Given the description of an element on the screen output the (x, y) to click on. 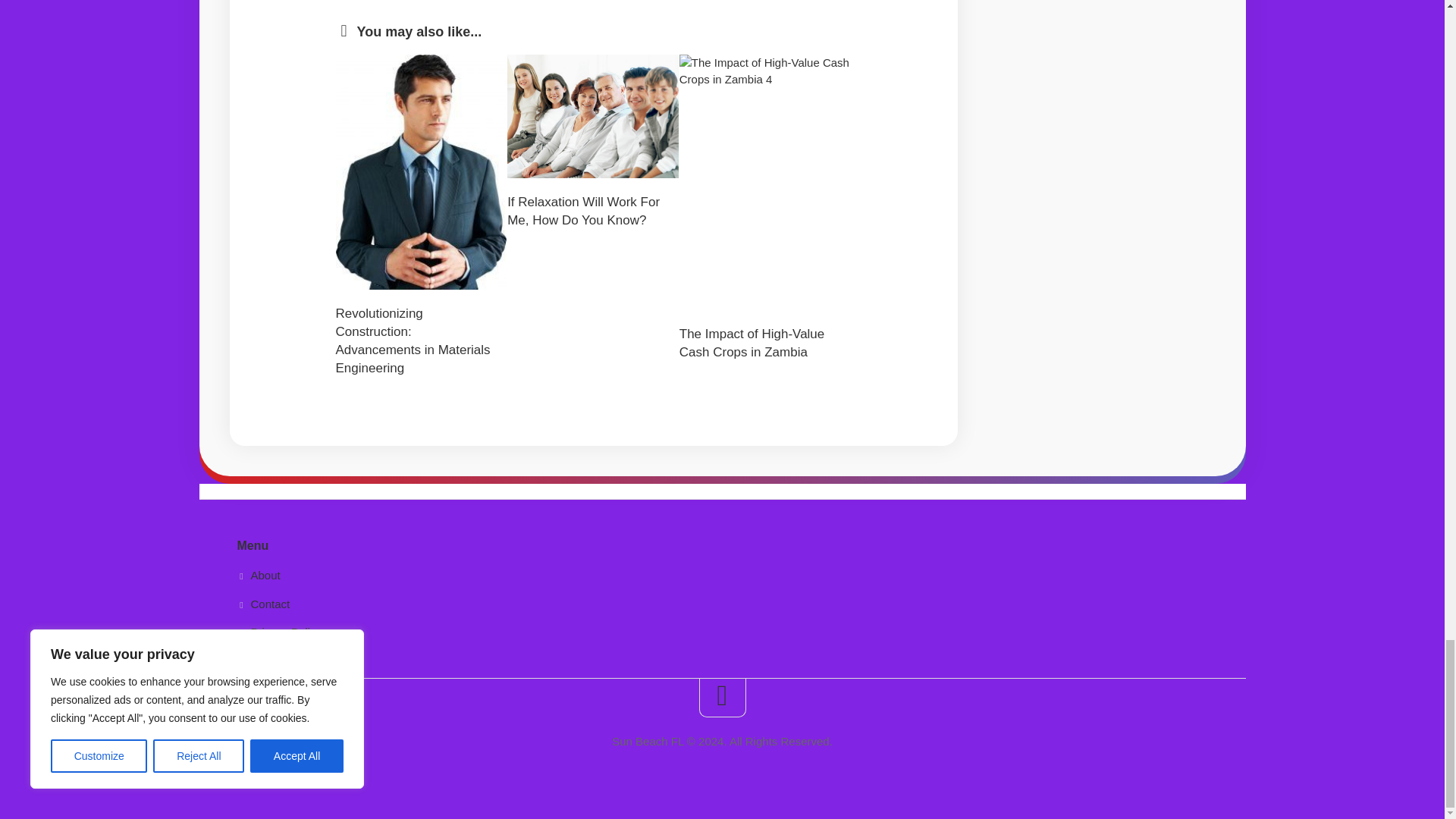
The Impact of High-Value Cash Crops in Zambia (752, 342)
If Relaxation Will Work For Me, How Do You Know? (582, 210)
